Given the description of an element on the screen output the (x, y) to click on. 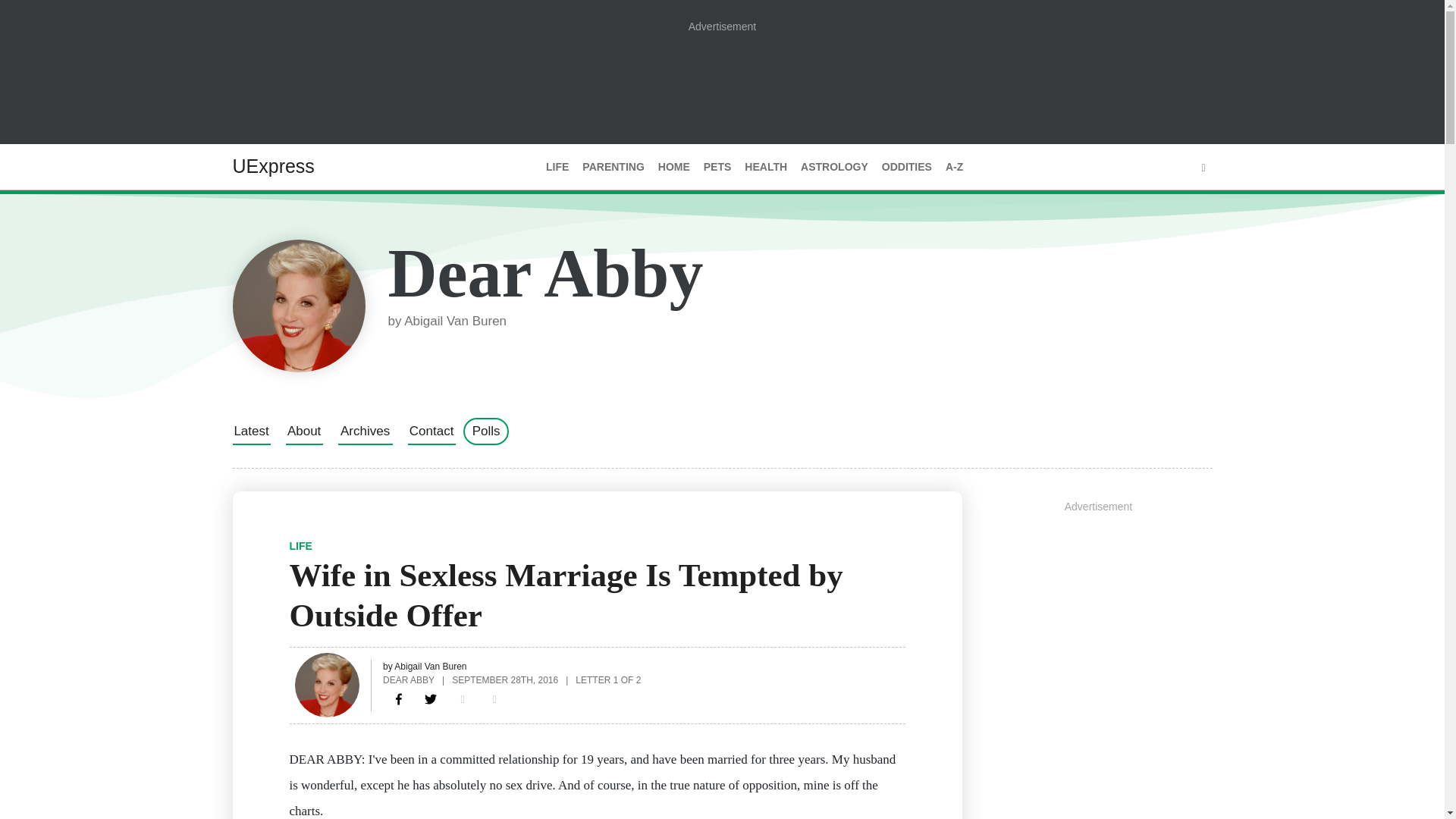
Archives (365, 431)
ASTROLOGY (834, 166)
HOME (673, 166)
HEALTH (765, 166)
PARENTING (612, 166)
A-Z (954, 166)
Latest (251, 431)
ODDITIES (907, 166)
Wife in Sexless Marriage Is Tempted by Outside Offer (398, 699)
DEAR ABBY (407, 680)
Contact (431, 431)
About (304, 431)
PETS (717, 166)
UExpress (272, 166)
LIFE (556, 166)
